Given the description of an element on the screen output the (x, y) to click on. 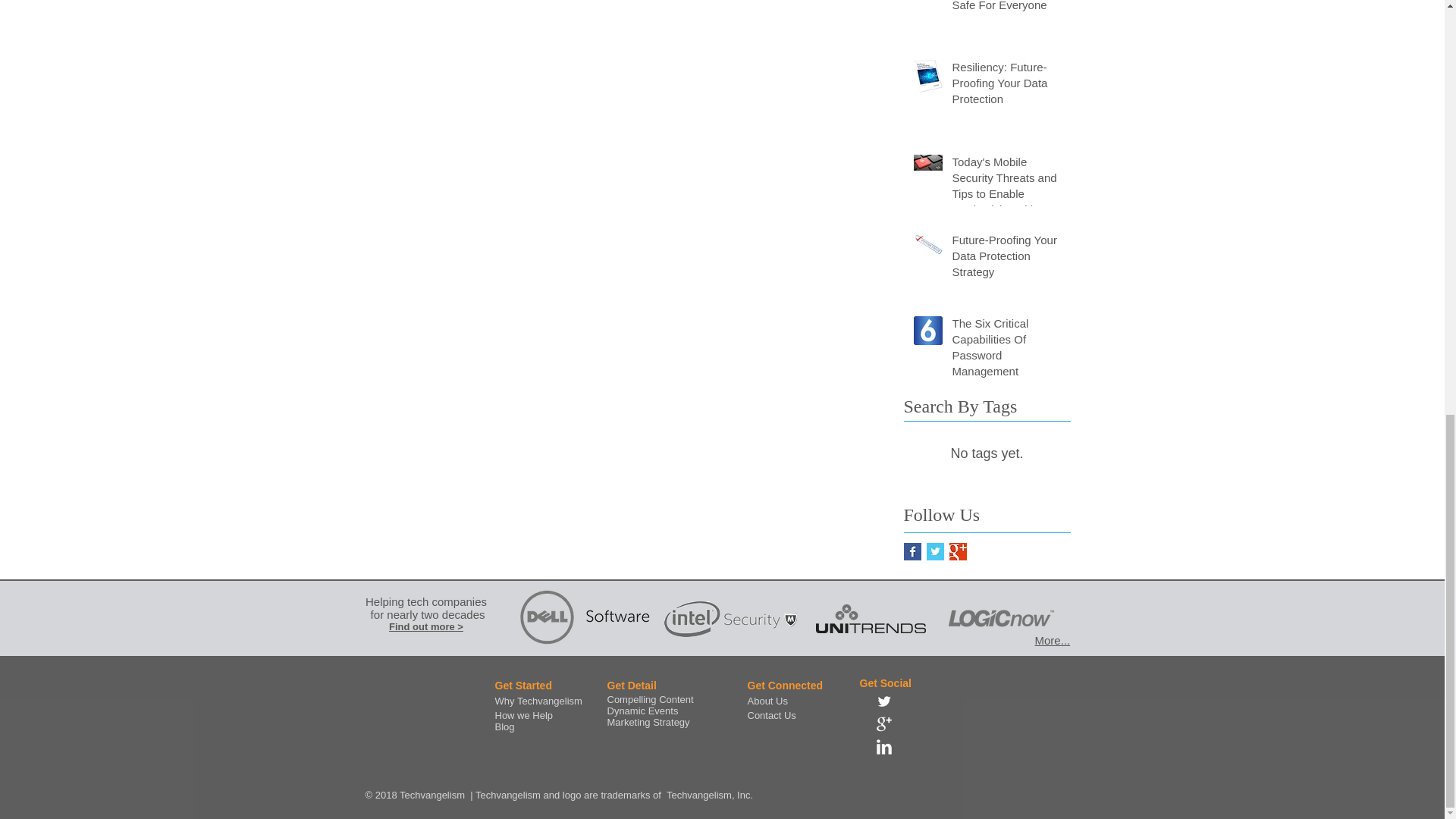
Compelling Content (650, 699)
Resiliency: Future-Proofing Your Data Protection (1006, 85)
Marketing Strategy (647, 722)
How we Help (524, 715)
The Six Critical Capabilities Of Password Management (1006, 349)
LogicNow logo BW.png (999, 618)
Blog (504, 726)
More... (1051, 640)
Dell Software Logo BW.png (585, 619)
Unitrends Logo BW.png (870, 618)
About Us (767, 700)
Future-Proofing Your Data Protection Strategy (1006, 258)
Making The World Safe For Everyone (1006, 9)
Dynamic Events (642, 710)
